Given the description of an element on the screen output the (x, y) to click on. 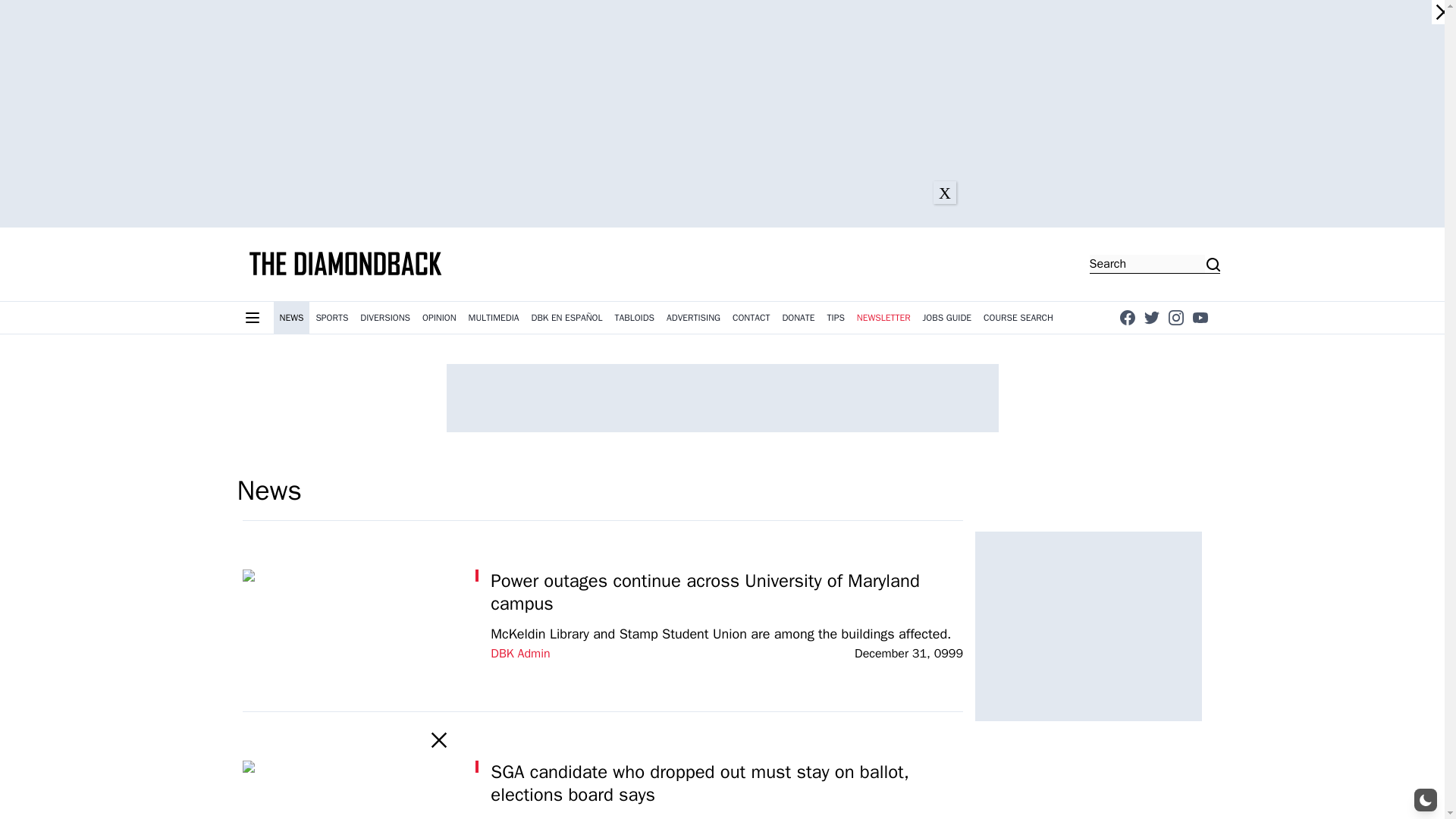
NEWSLETTER (883, 317)
Advertising (693, 317)
TABLOIDS (634, 317)
Diversions (384, 317)
NEWS (290, 317)
Contact (751, 317)
Opinion (439, 317)
JOBS GUIDE (947, 317)
TIPS (835, 317)
COURSE SEARCH (1017, 317)
